Given the description of an element on the screen output the (x, y) to click on. 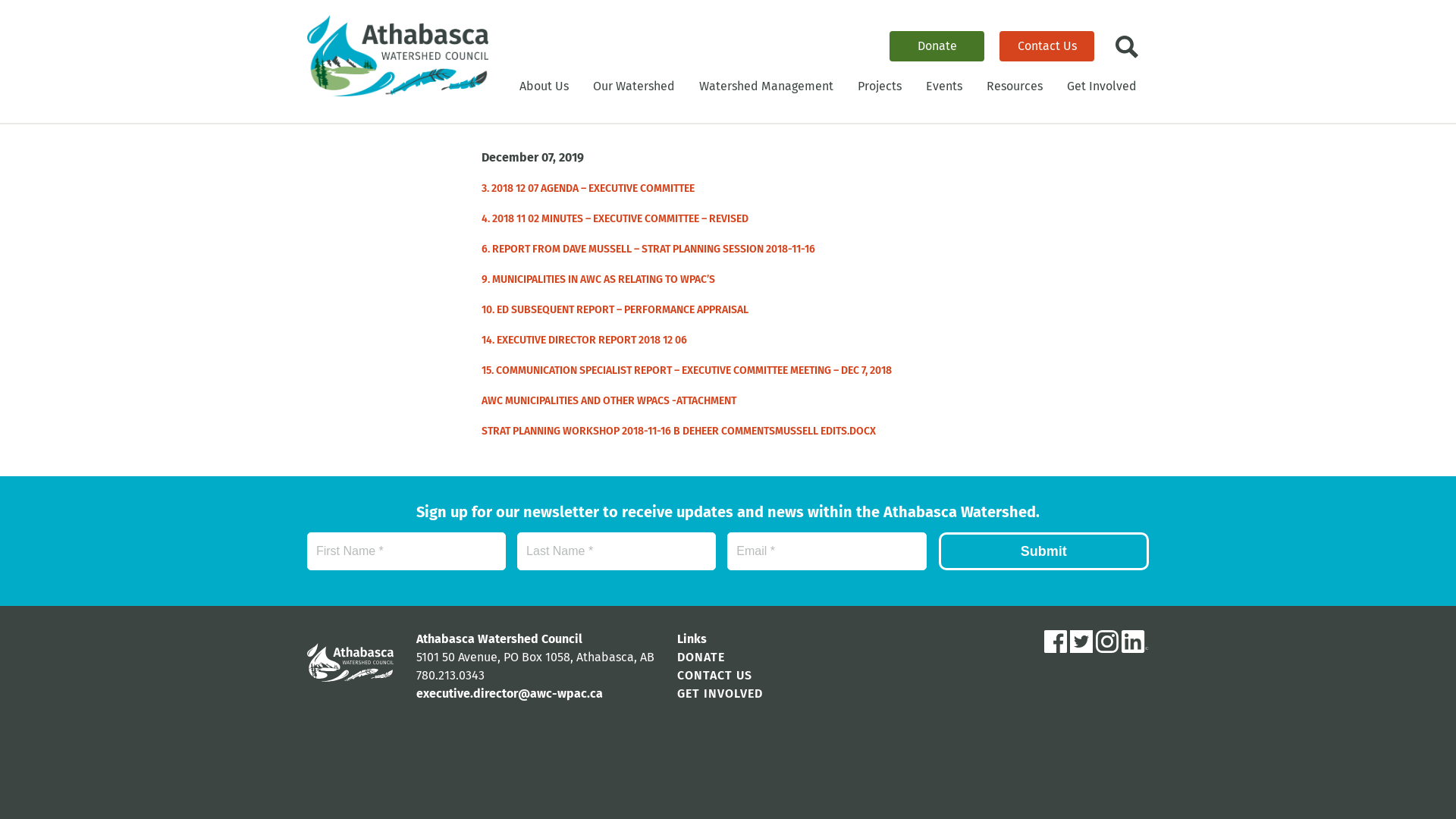
Donate Element type: text (936, 46)
14. EXECUTIVE DIRECTOR REPORT 2018 12 06 Element type: text (584, 339)
AWC MUNICIPALITIES AND OTHER WPACS -ATTACHMENT Element type: text (608, 400)
Facebook Element type: hover (1055, 641)
LinkedIn Element type: hover (1134, 641)
DONATE Element type: text (700, 656)
CONTACT US Element type: text (714, 675)
GET INVOLVED Element type: text (719, 693)
Contact Us Element type: text (1046, 46)
Watershed Management Element type: text (766, 86)
Our Watershed Element type: text (633, 86)
Twitter Element type: hover (1081, 641)
Instagram Element type: hover (1106, 641)
Resources Element type: text (1014, 86)
About Us Element type: text (543, 86)
Events Element type: text (943, 86)
Projects Element type: text (879, 86)
Athabasca Watershed Council Element type: text (350, 662)
executive.director@awc-wpac.ca Element type: text (509, 693)
Submit Element type: text (1043, 551)
Get Involved Element type: text (1101, 86)
